Given the description of an element on the screen output the (x, y) to click on. 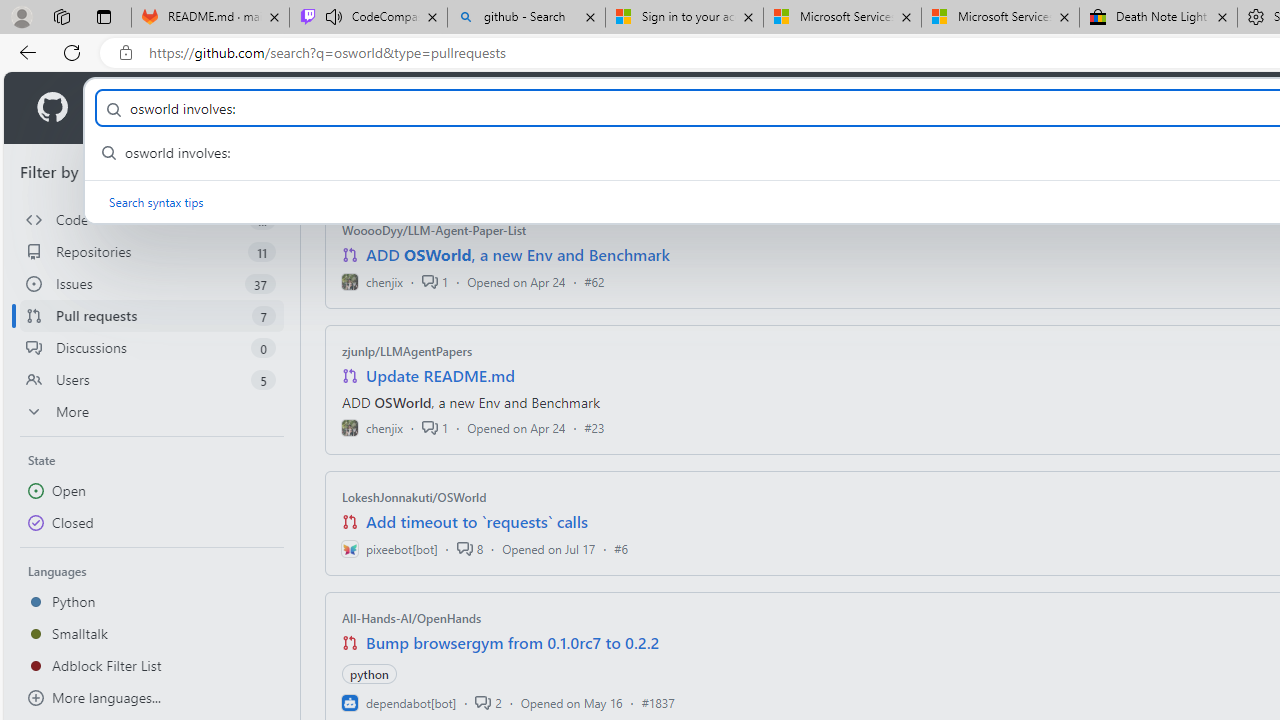
#23 (594, 427)
More (152, 411)
